Given the description of an element on the screen output the (x, y) to click on. 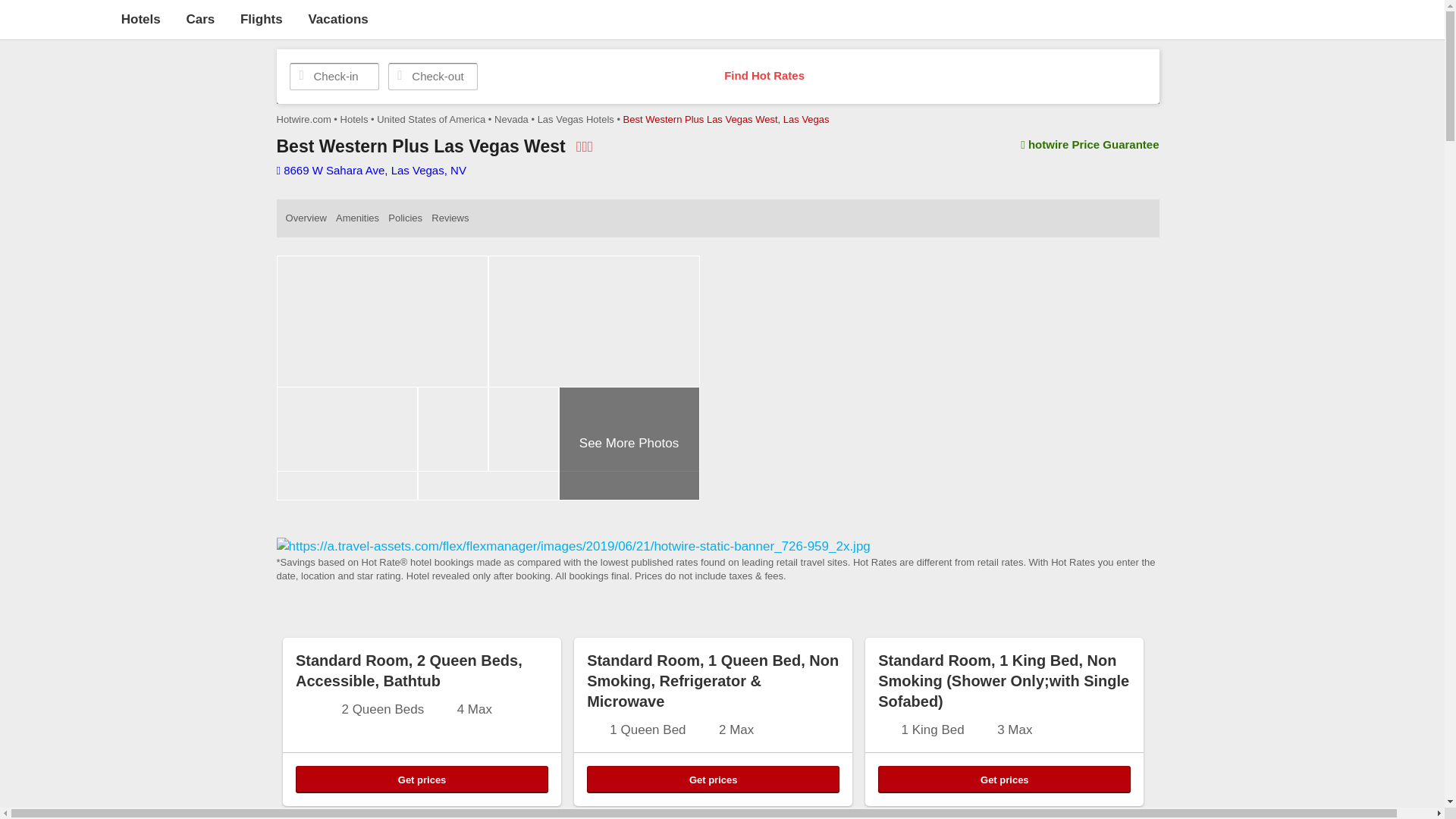
Hotels (140, 19)
Vacations (337, 19)
Flights (261, 19)
Hotwire (56, 18)
Cars (200, 19)
2.5 (584, 146)
